Given the description of an element on the screen output the (x, y) to click on. 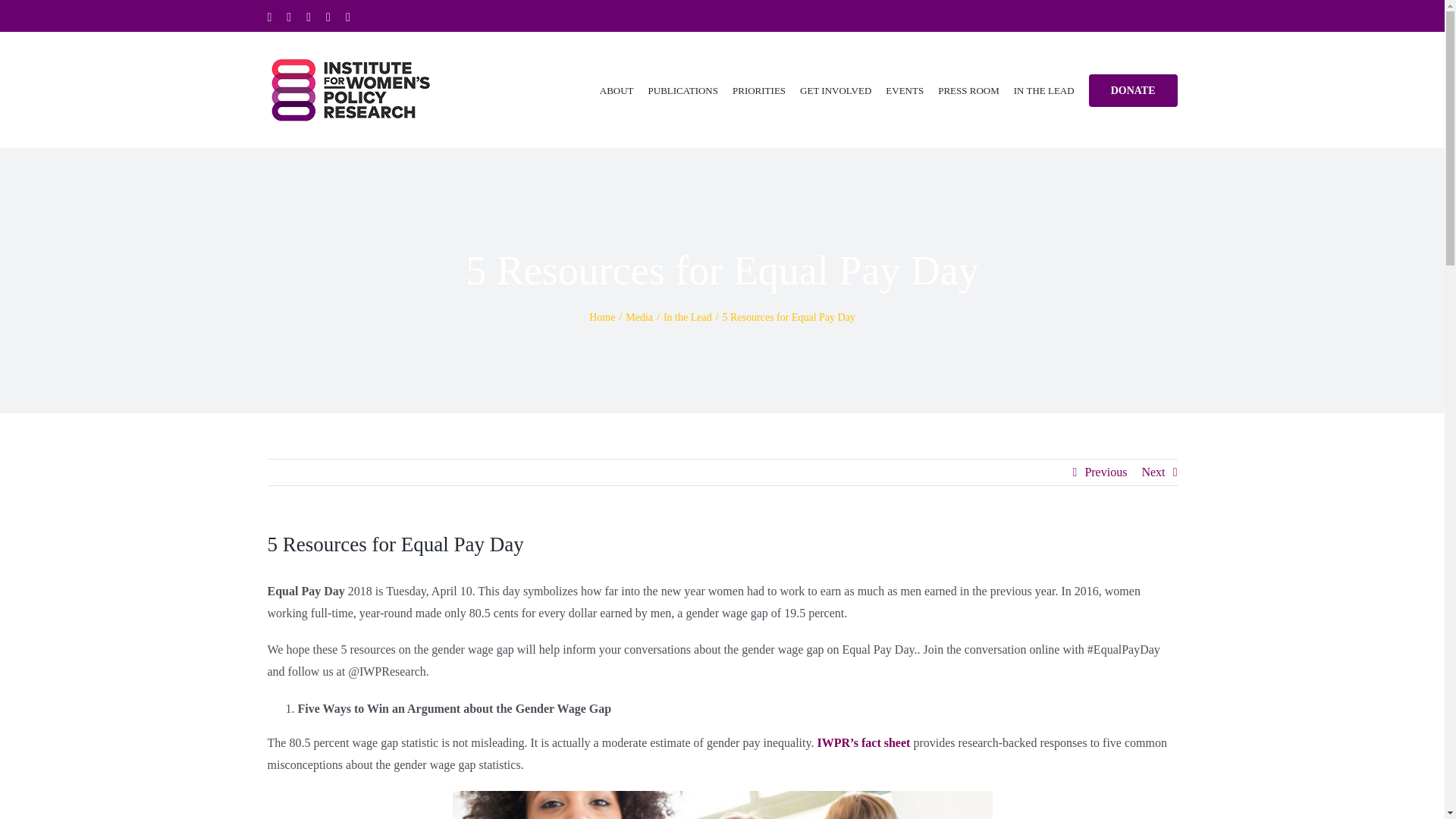
In the Lead (687, 317)
Previous (1105, 472)
Media (639, 317)
Home (601, 317)
